Given the description of an element on the screen output the (x, y) to click on. 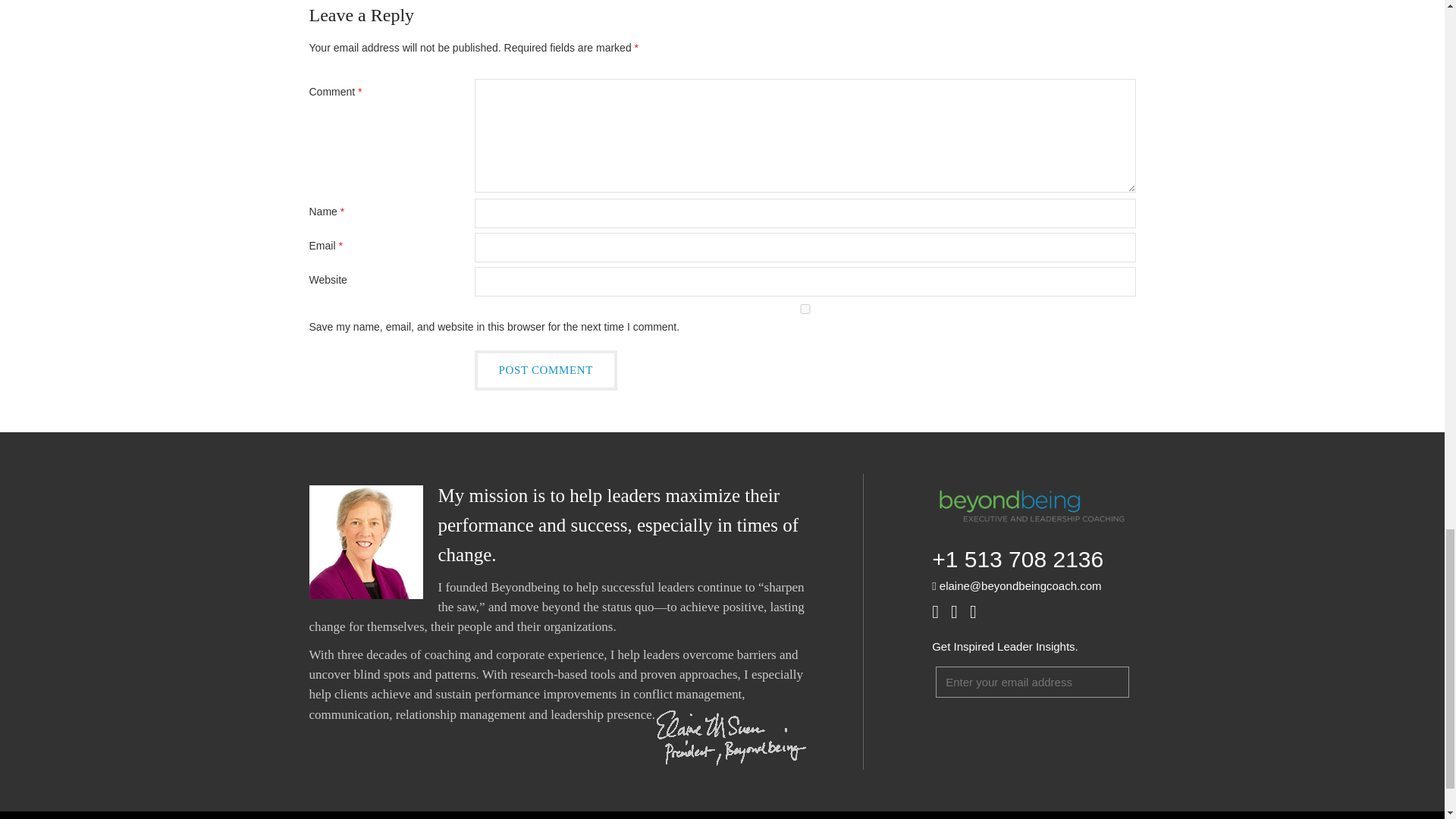
Post Comment (545, 370)
yes (804, 308)
